Given the description of an element on the screen output the (x, y) to click on. 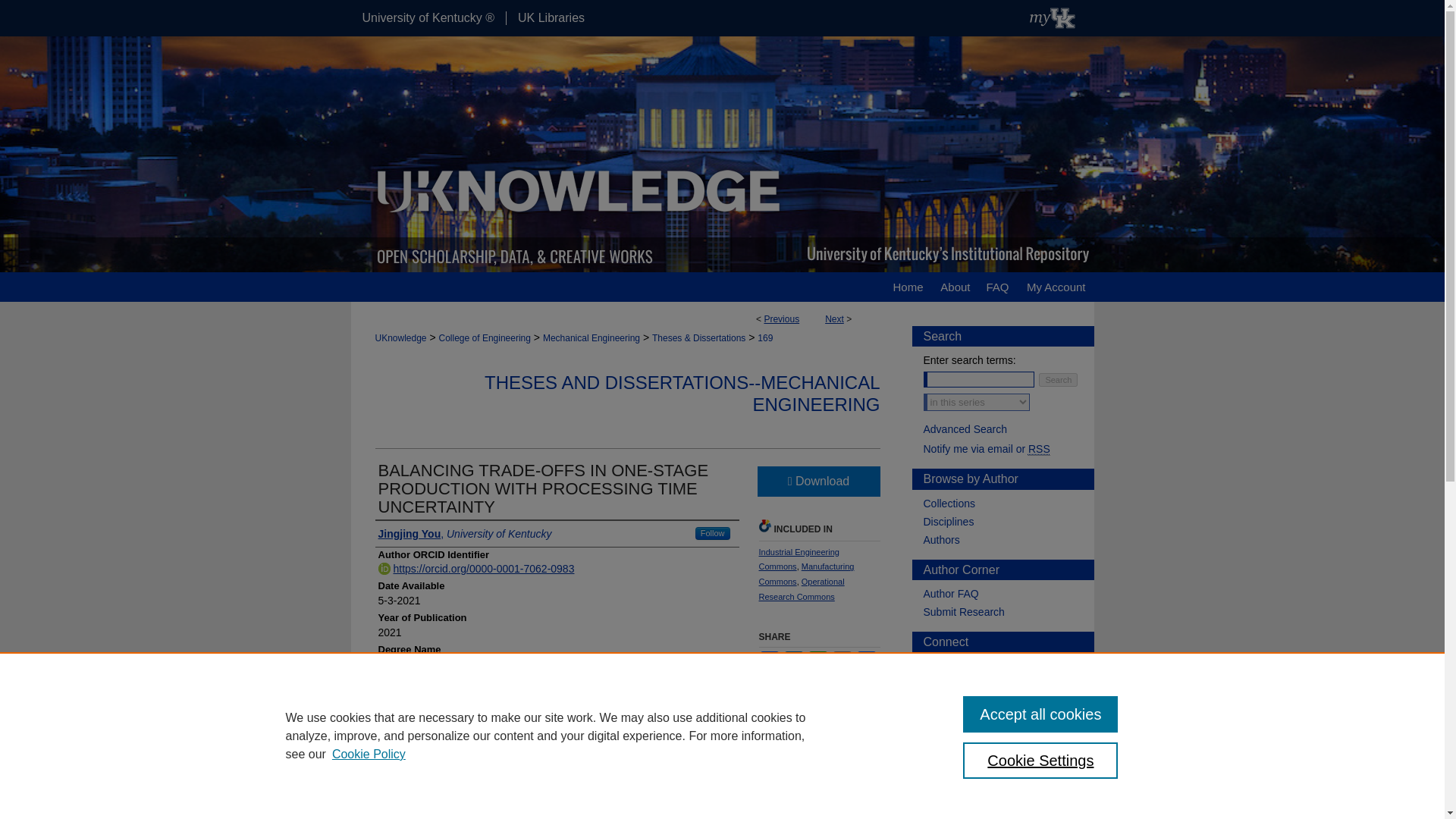
Search (1058, 379)
UKnowledge (400, 337)
About (954, 286)
Manufacturing Commons (805, 573)
FAQ (996, 286)
Download (818, 481)
Email or RSS Notifications (1008, 449)
College of Engineering (485, 337)
About (954, 286)
Previous (780, 318)
LinkedIn (793, 660)
THESES AND DISSERTATIONS--MECHANICAL ENGINEERING (681, 393)
Follow Jingjing You (712, 533)
